Given the description of an element on the screen output the (x, y) to click on. 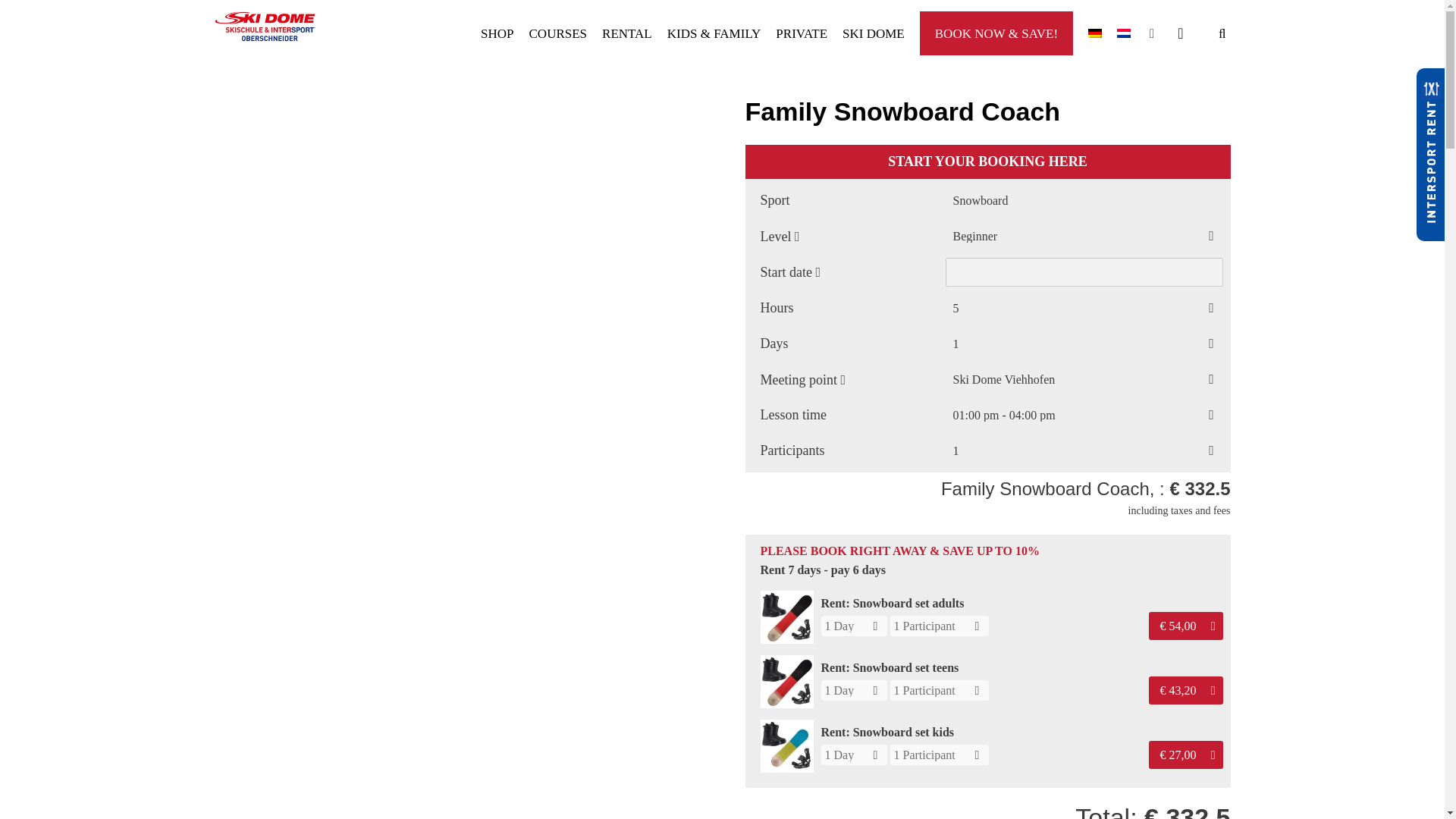
RENTAL (627, 33)
COURSES (558, 33)
